Given the description of an element on the screen output the (x, y) to click on. 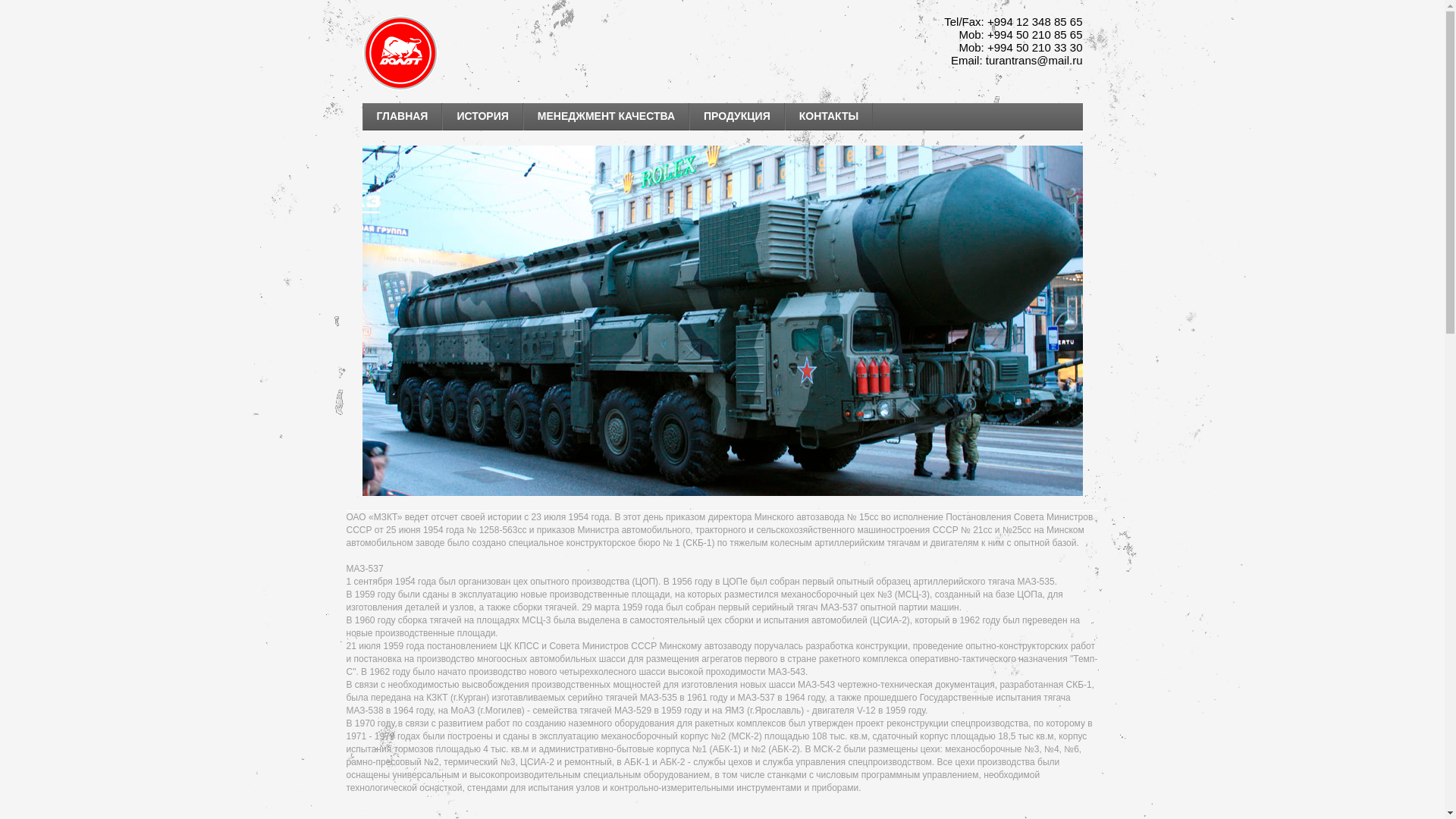
3 Element type: text (1031, 476)
2 Element type: text (1021, 476)
1 Element type: text (1010, 476)
2 Element type: text (1053, 476)
1 Element type: text (1042, 476)
3 Element type: text (1063, 476)
